Given the description of an element on the screen output the (x, y) to click on. 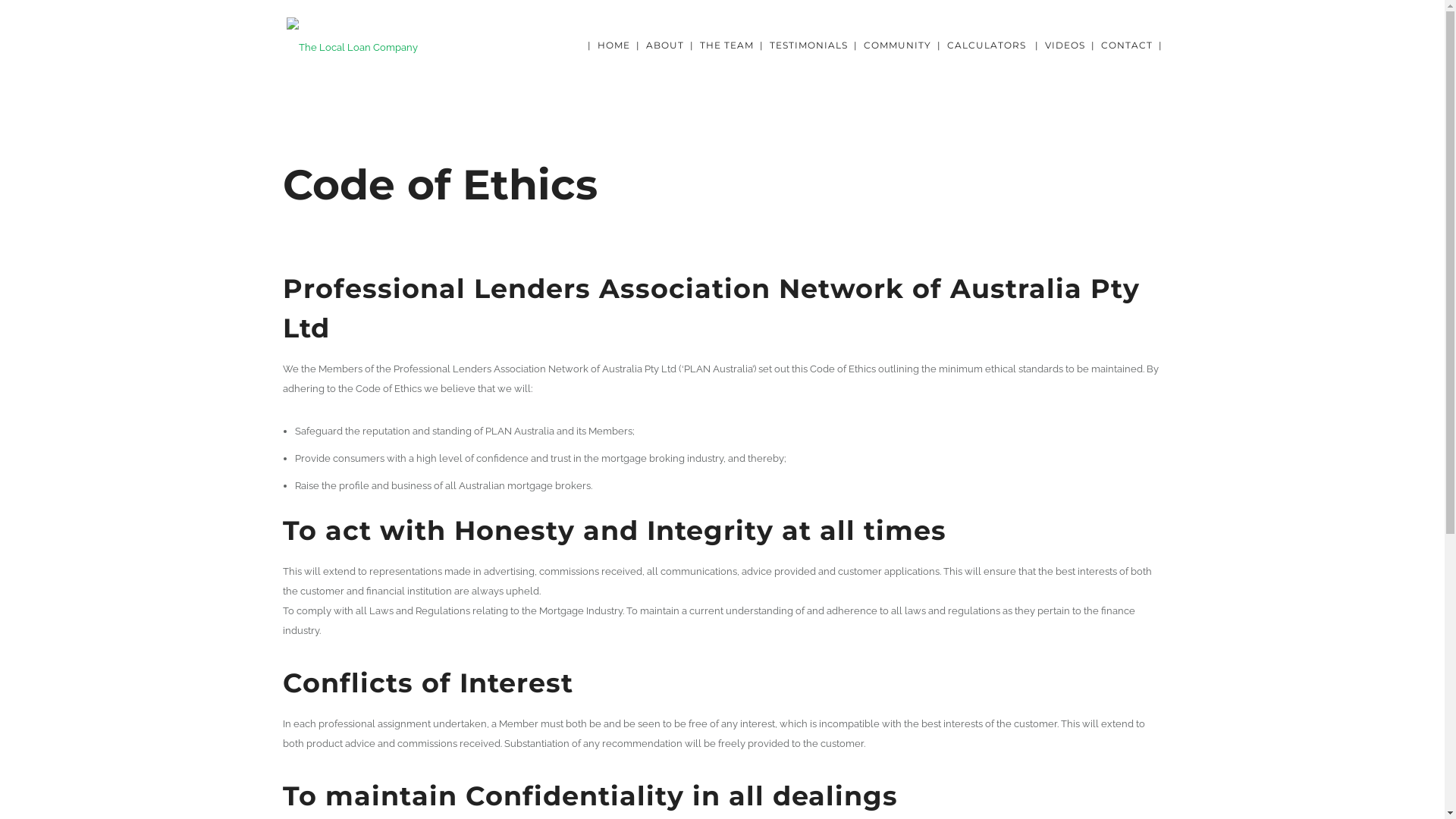
VIDEOS Element type: text (1064, 44)
THE TEAM Element type: text (726, 44)
CONTACT Element type: text (1126, 44)
HOME Element type: text (613, 44)
CALCULATORS Element type: text (985, 44)
TESTIMONIALS Element type: text (807, 44)
COMMUNITY Element type: text (896, 44)
ABOUT Element type: text (665, 44)
